Given the description of an element on the screen output the (x, y) to click on. 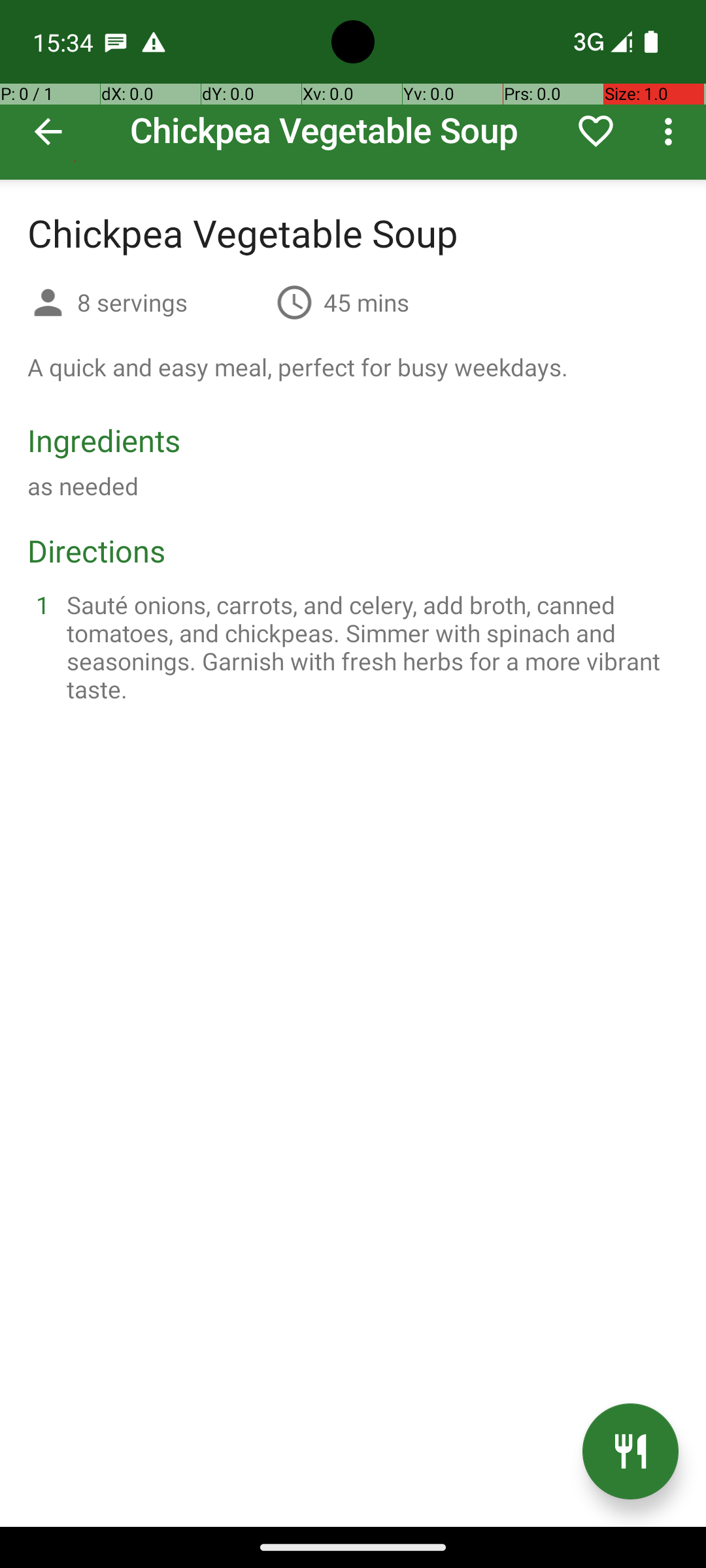
Chickpea Vegetable Soup Element type: android.widget.FrameLayout (353, 89)
45 mins Element type: android.widget.TextView (366, 301)
as needed Element type: android.widget.TextView (82, 485)
Sauté onions, carrots, and celery, add broth, canned tomatoes, and chickpeas. Simmer with spinach and seasonings. Garnish with fresh herbs for a more vibrant taste. Element type: android.widget.TextView (368, 646)
